Given the description of an element on the screen output the (x, y) to click on. 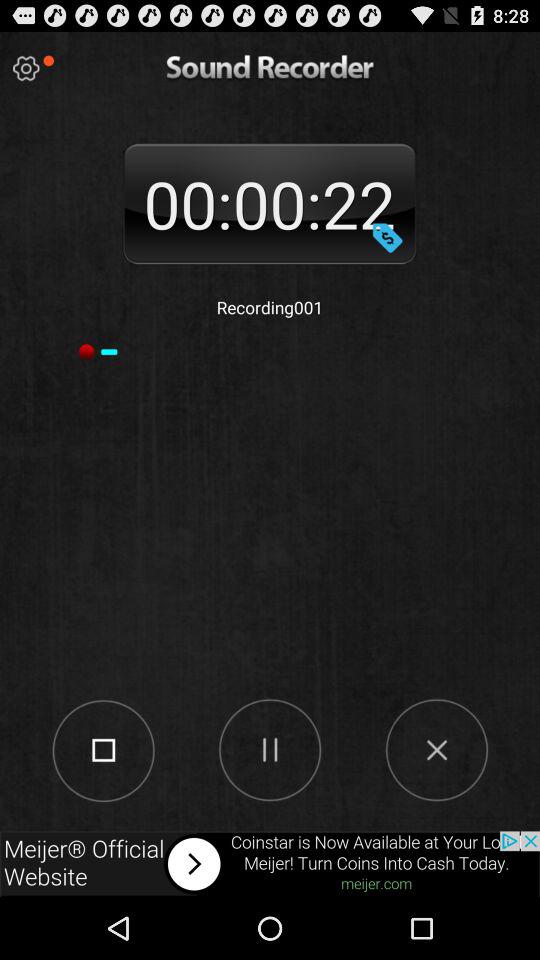
stop recording (102, 749)
